Given the description of an element on the screen output the (x, y) to click on. 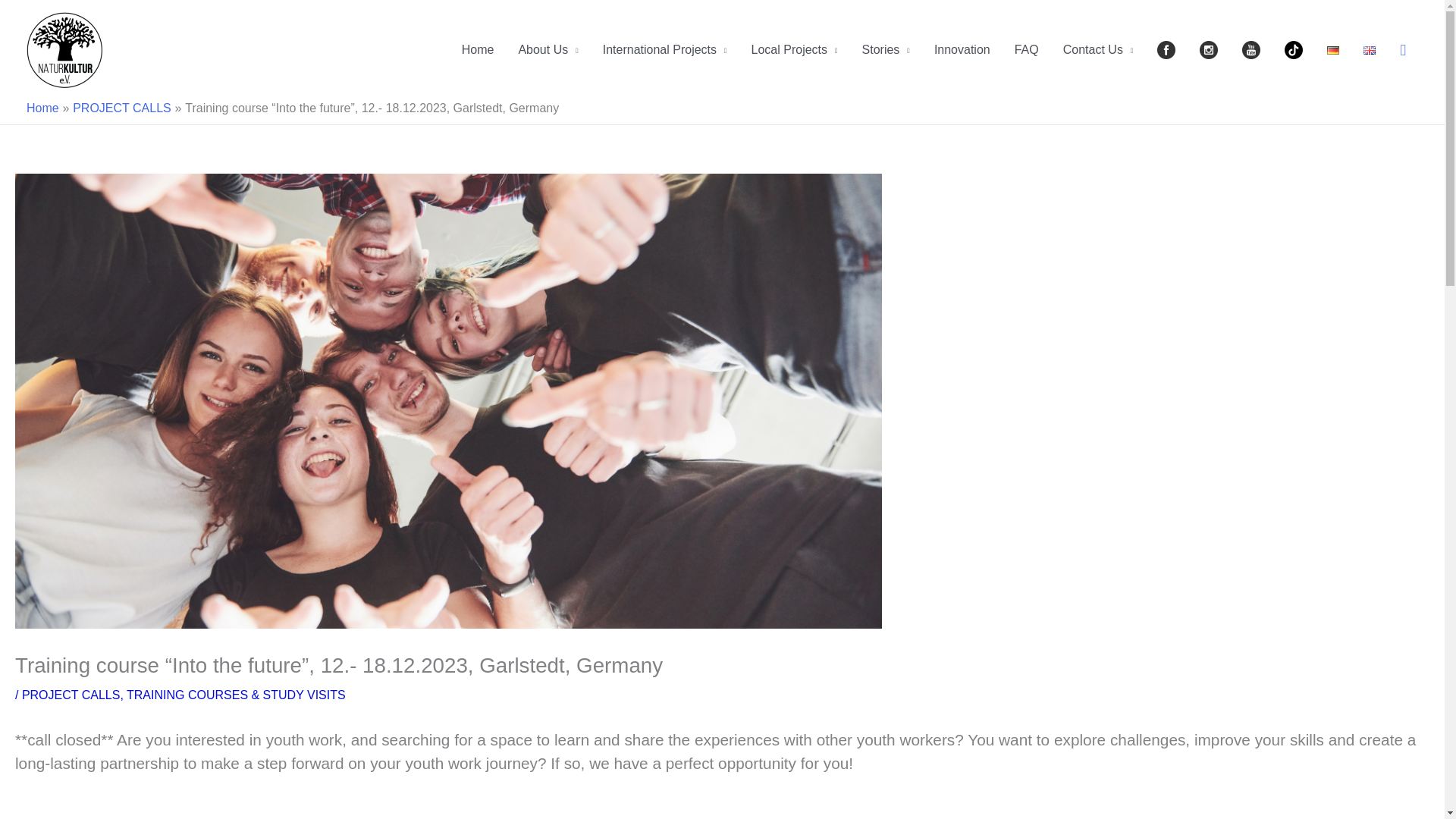
Local Projects (794, 49)
International Projects (665, 49)
Contact Us (1098, 49)
